Given the description of an element on the screen output the (x, y) to click on. 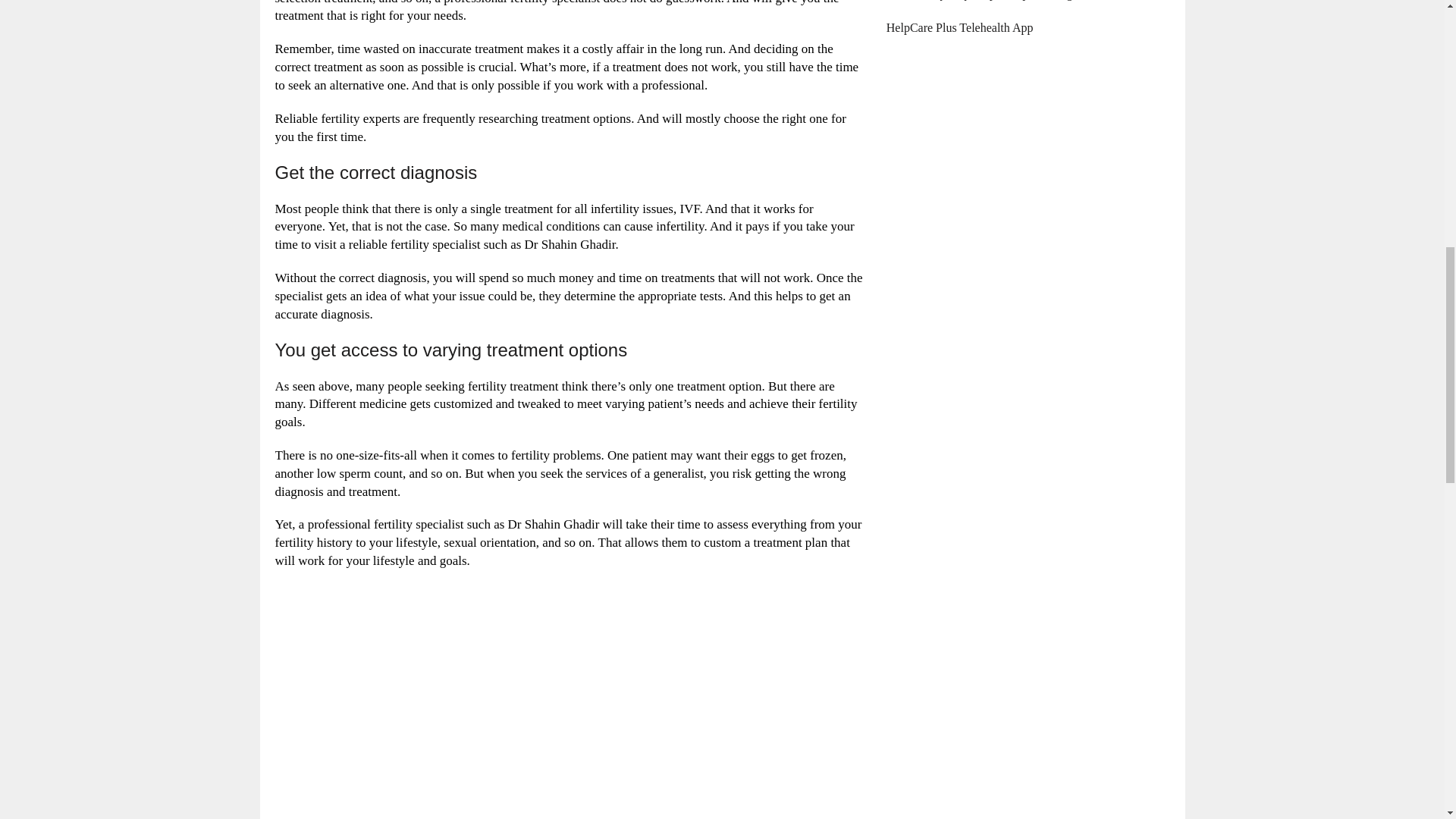
HelpCare Plus Telehealth App (959, 27)
